Given the description of an element on the screen output the (x, y) to click on. 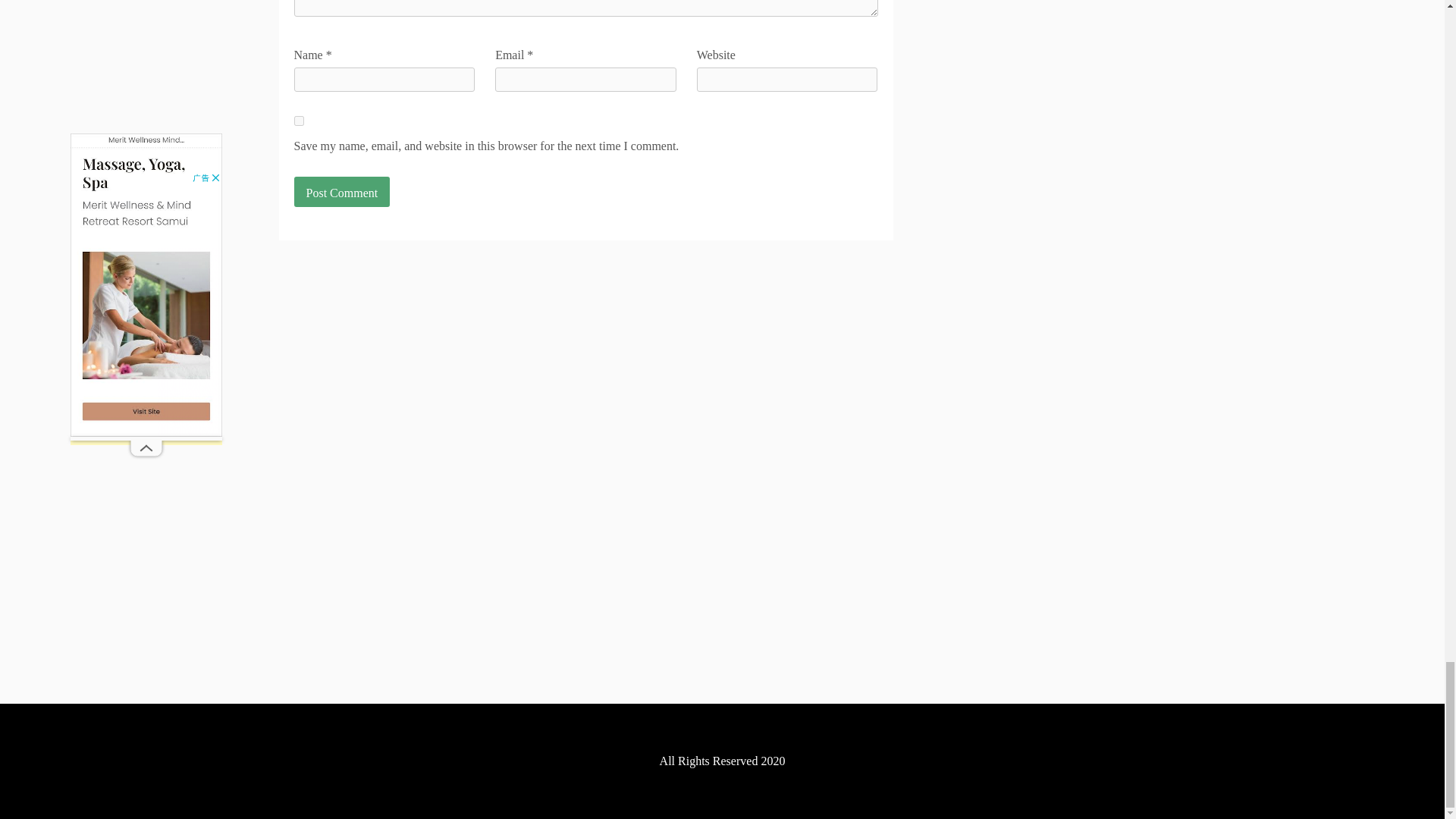
Post Comment (342, 191)
yes (299, 121)
Post Comment (342, 191)
